Given the description of an element on the screen output the (x, y) to click on. 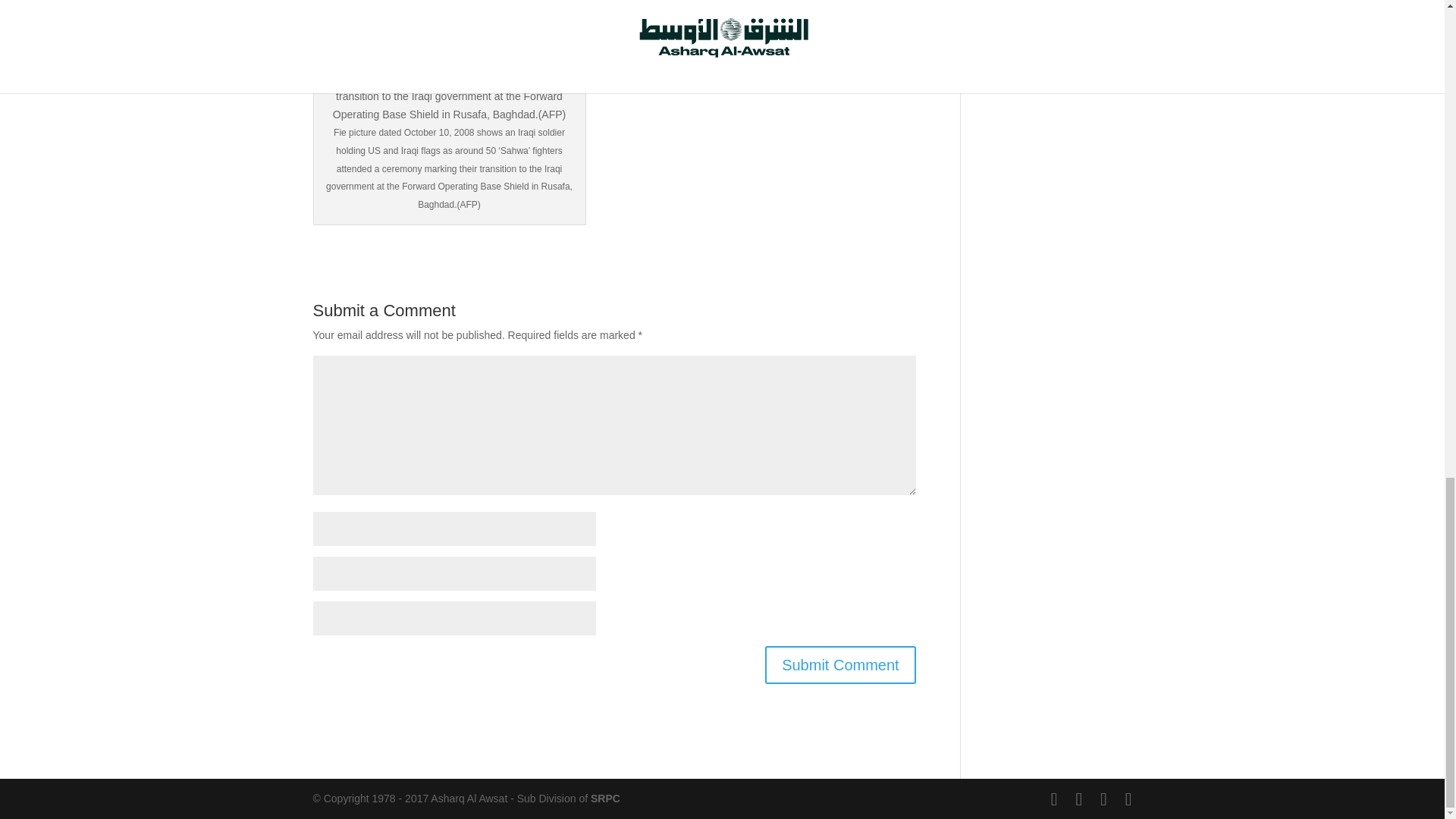
SRPC (605, 798)
Submit Comment (840, 664)
Submit Comment (840, 664)
